Given the description of an element on the screen output the (x, y) to click on. 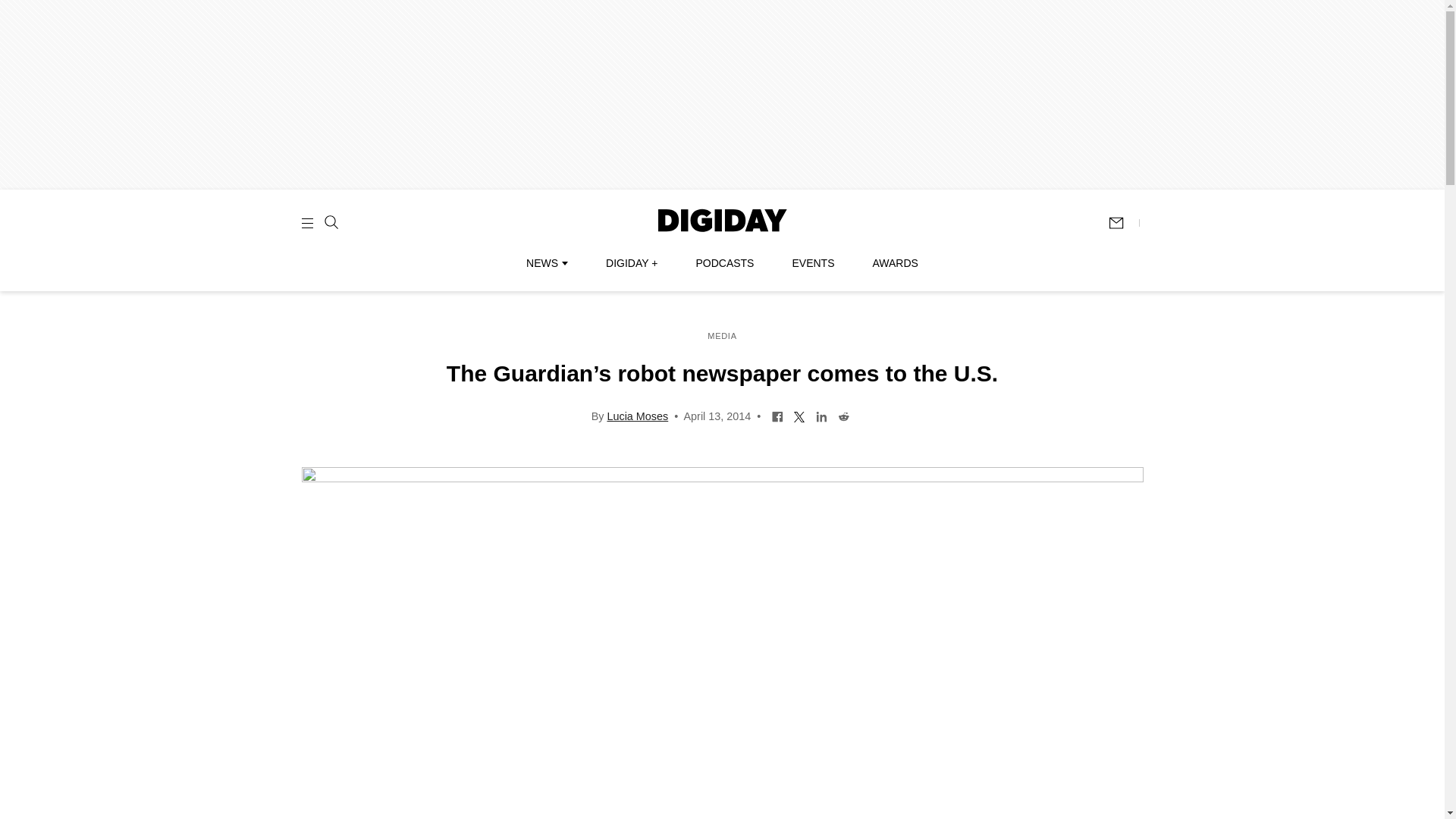
Share on LinkedIn (821, 415)
EVENTS (813, 262)
Share on Facebook (777, 415)
AWARDS (894, 262)
Share on Reddit (843, 415)
Subscribe (1123, 223)
PODCASTS (725, 262)
NEWS (546, 262)
Share on Twitter (799, 415)
